Given the description of an element on the screen output the (x, y) to click on. 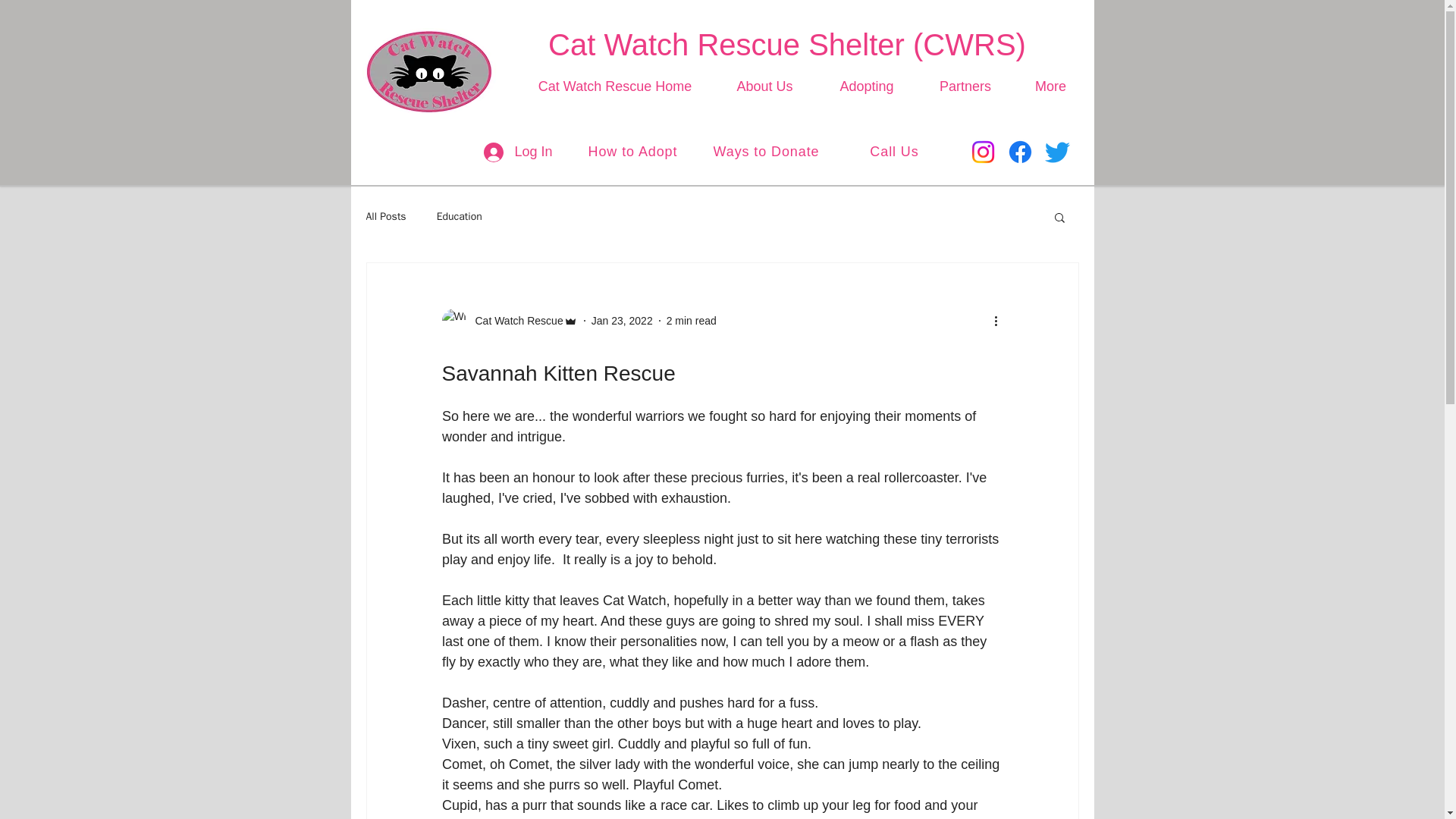
About Us (764, 86)
Partners (964, 86)
Ways to Donate (765, 151)
Log In (517, 152)
2 min read (691, 319)
Jan 23, 2022 (621, 319)
Cat Watch Rescue (513, 320)
How to Adopt (632, 151)
Cat Watch Rescue Home (614, 86)
Call Us (894, 151)
